Given the description of an element on the screen output the (x, y) to click on. 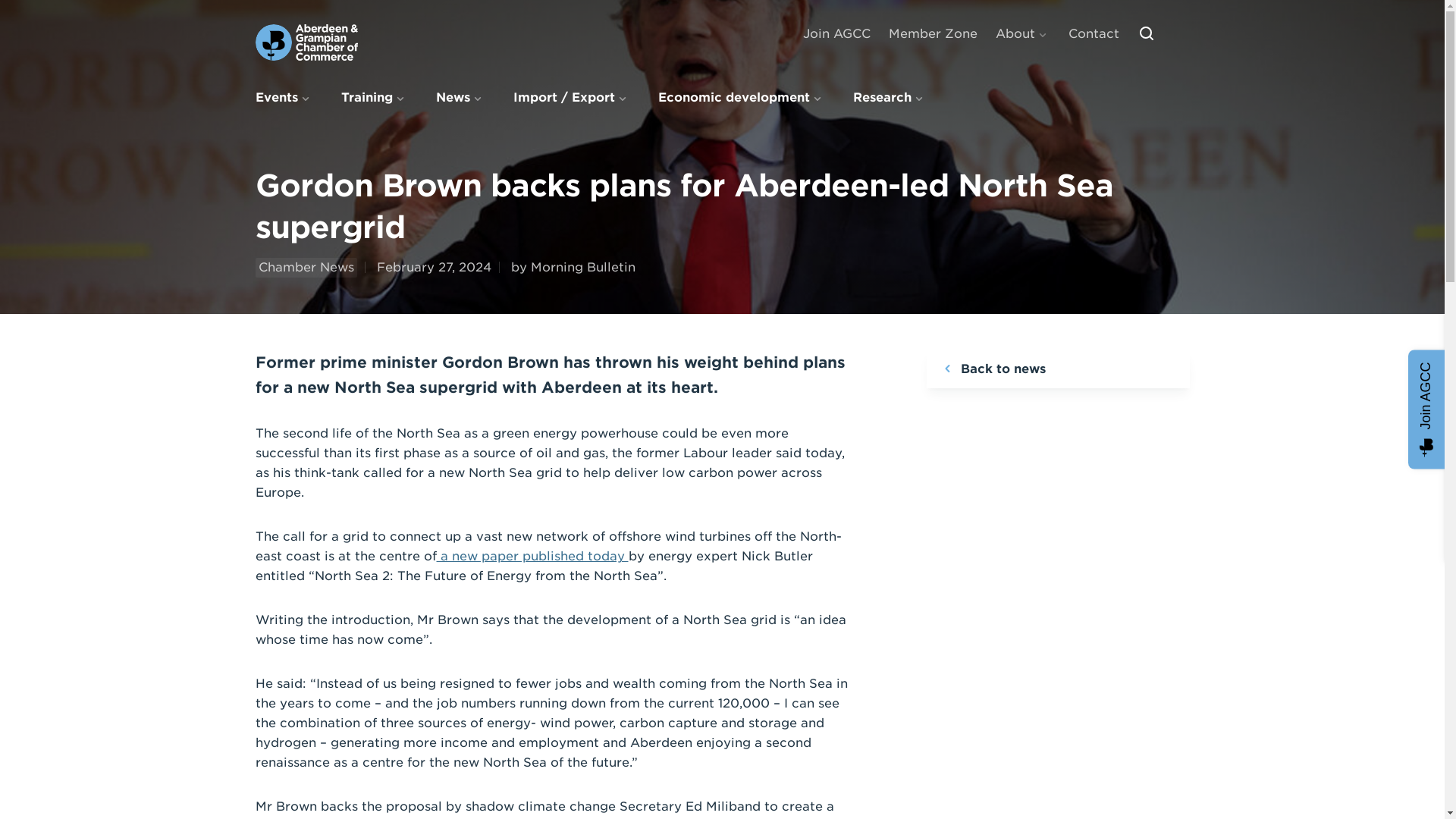
Training (374, 97)
Events (283, 97)
Economic development (741, 97)
News (459, 97)
